Given the description of an element on the screen output the (x, y) to click on. 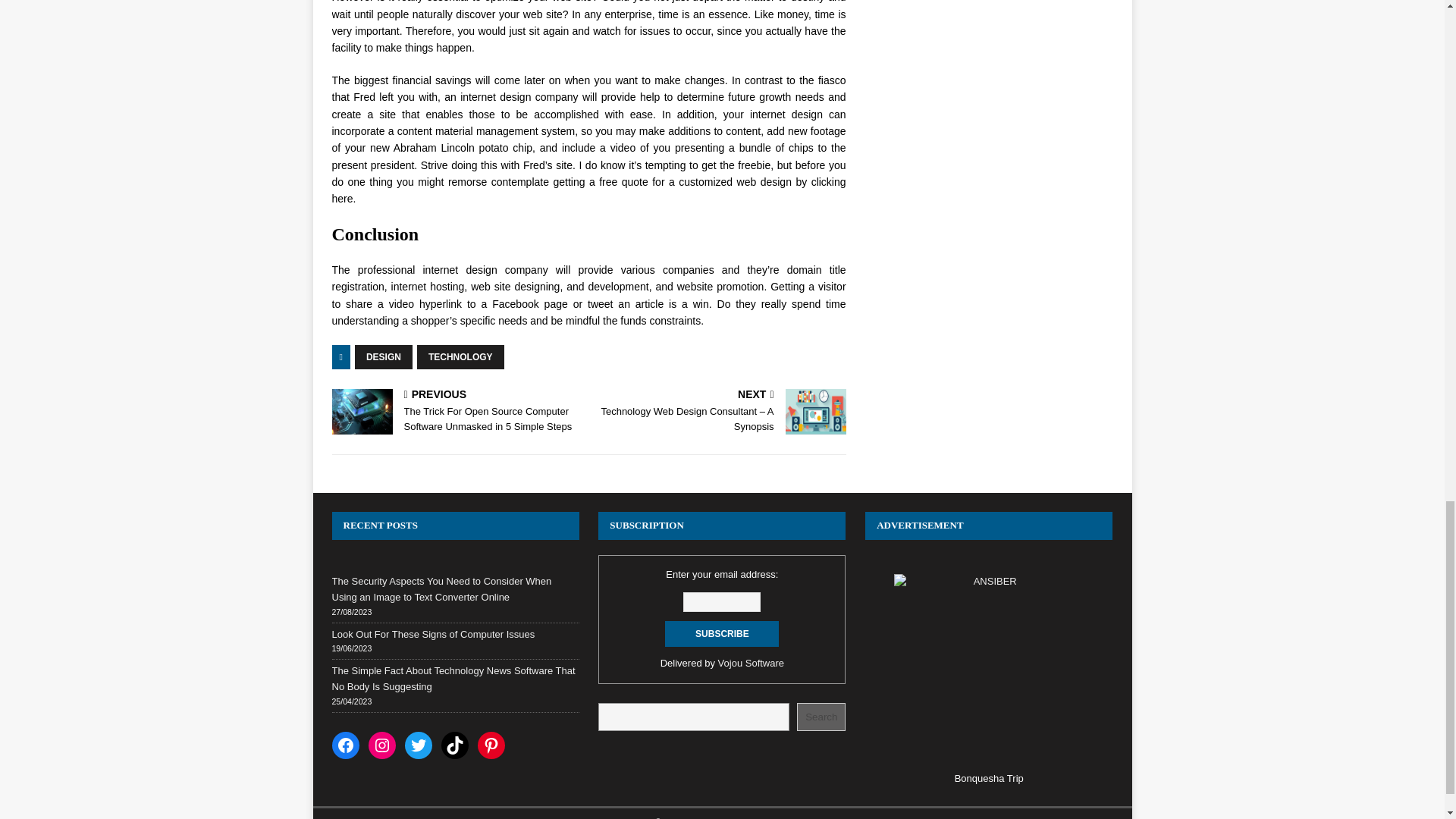
Subscribe (721, 633)
TECHNOLOGY (459, 356)
DESIGN (383, 356)
Technology Web Design Consultant - A Synopsis (815, 411)
